Given the description of an element on the screen output the (x, y) to click on. 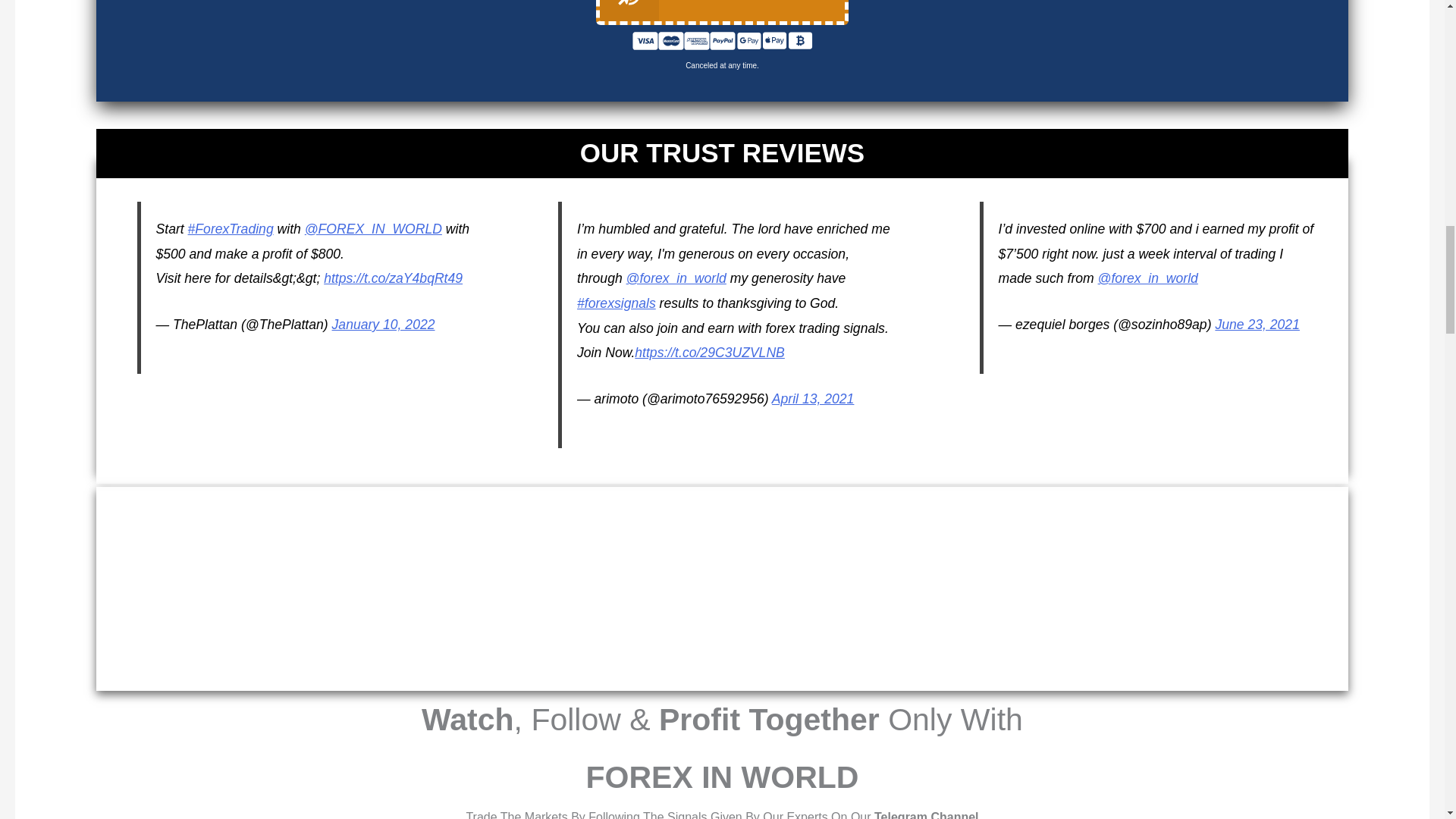
June 23, 2021 (1257, 324)
January 10, 2022 (383, 324)
April 13, 2021 (812, 398)
SUBSCRIBE NOW! (721, 12)
